Given the description of an element on the screen output the (x, y) to click on. 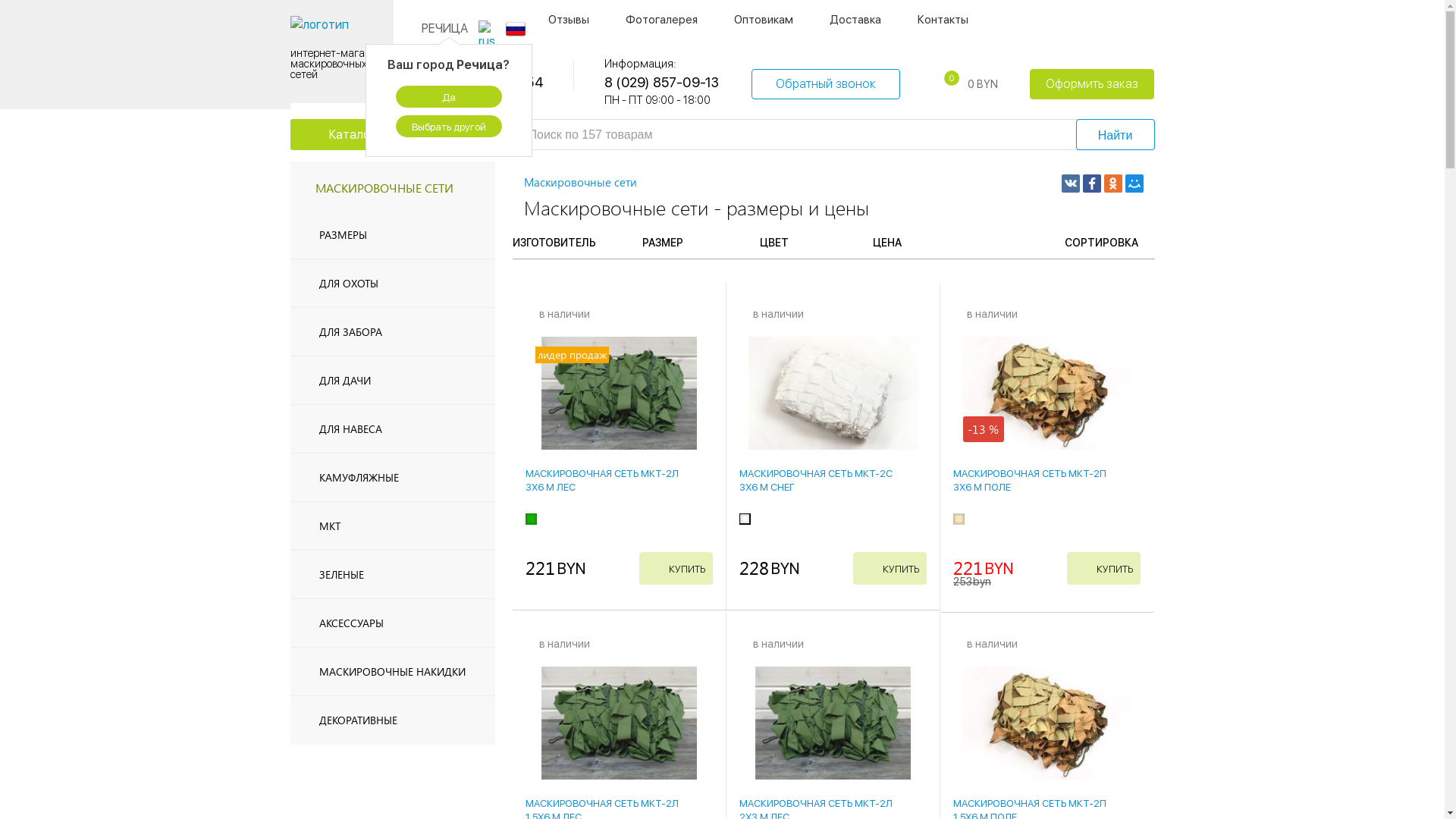
-13 % Element type: text (1046, 392)
0 Element type: text (942, 83)
Facebook Element type: hover (1091, 183)
